Given the description of an element on the screen output the (x, y) to click on. 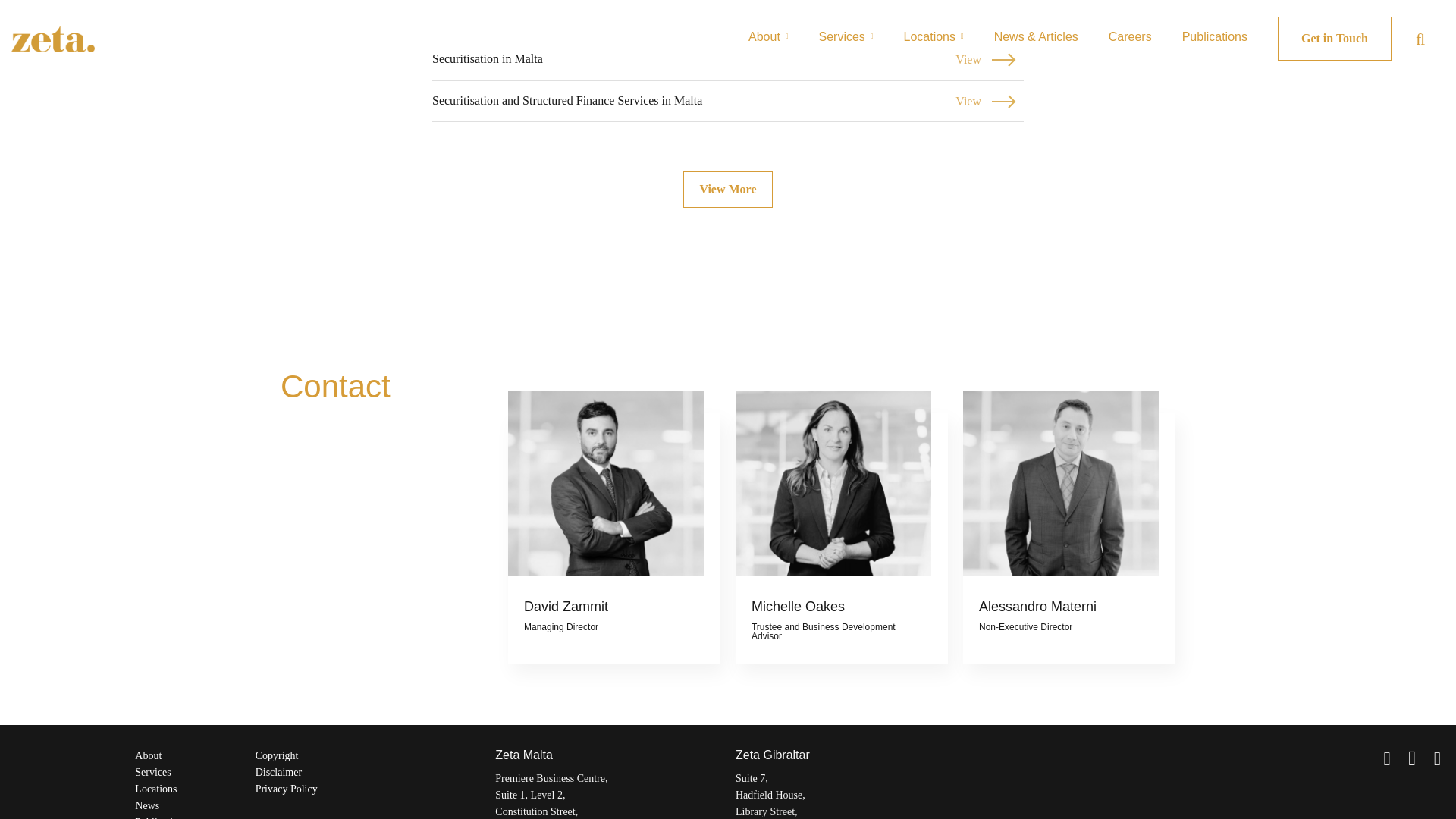
View More (727, 101)
About (726, 189)
